Given the description of an element on the screen output the (x, y) to click on. 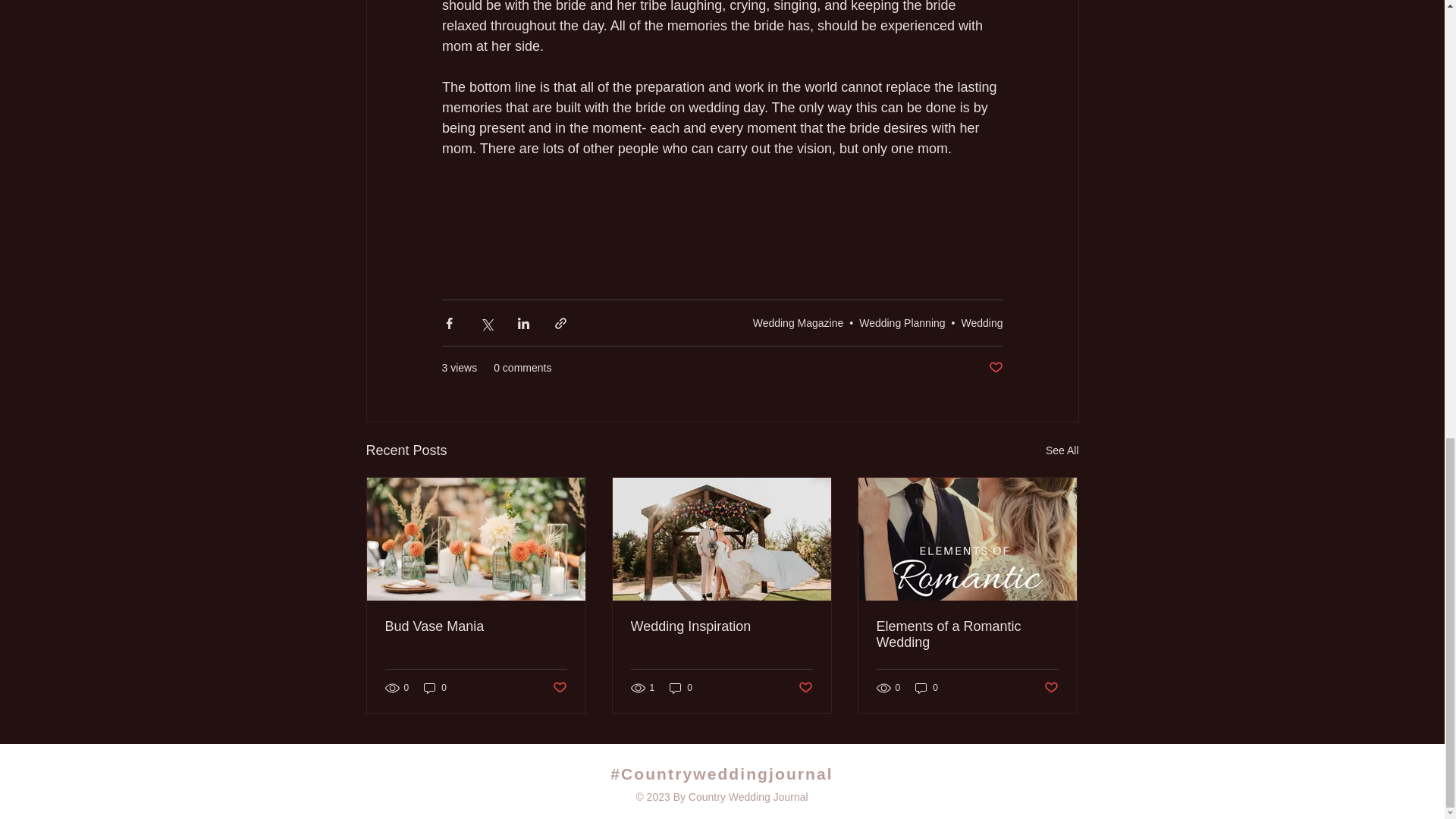
0 (926, 687)
See All (1061, 450)
Wedding Inspiration (721, 626)
Elements of a Romantic Wedding (967, 634)
Post not marked as liked (804, 687)
Post not marked as liked (1050, 687)
Post not marked as liked (558, 687)
Wedding (981, 322)
0 (435, 687)
0 (681, 687)
Bud Vase Mania (476, 626)
Post not marked as liked (995, 367)
Wedding Magazine (798, 322)
Wedding Planning (901, 322)
